Given the description of an element on the screen output the (x, y) to click on. 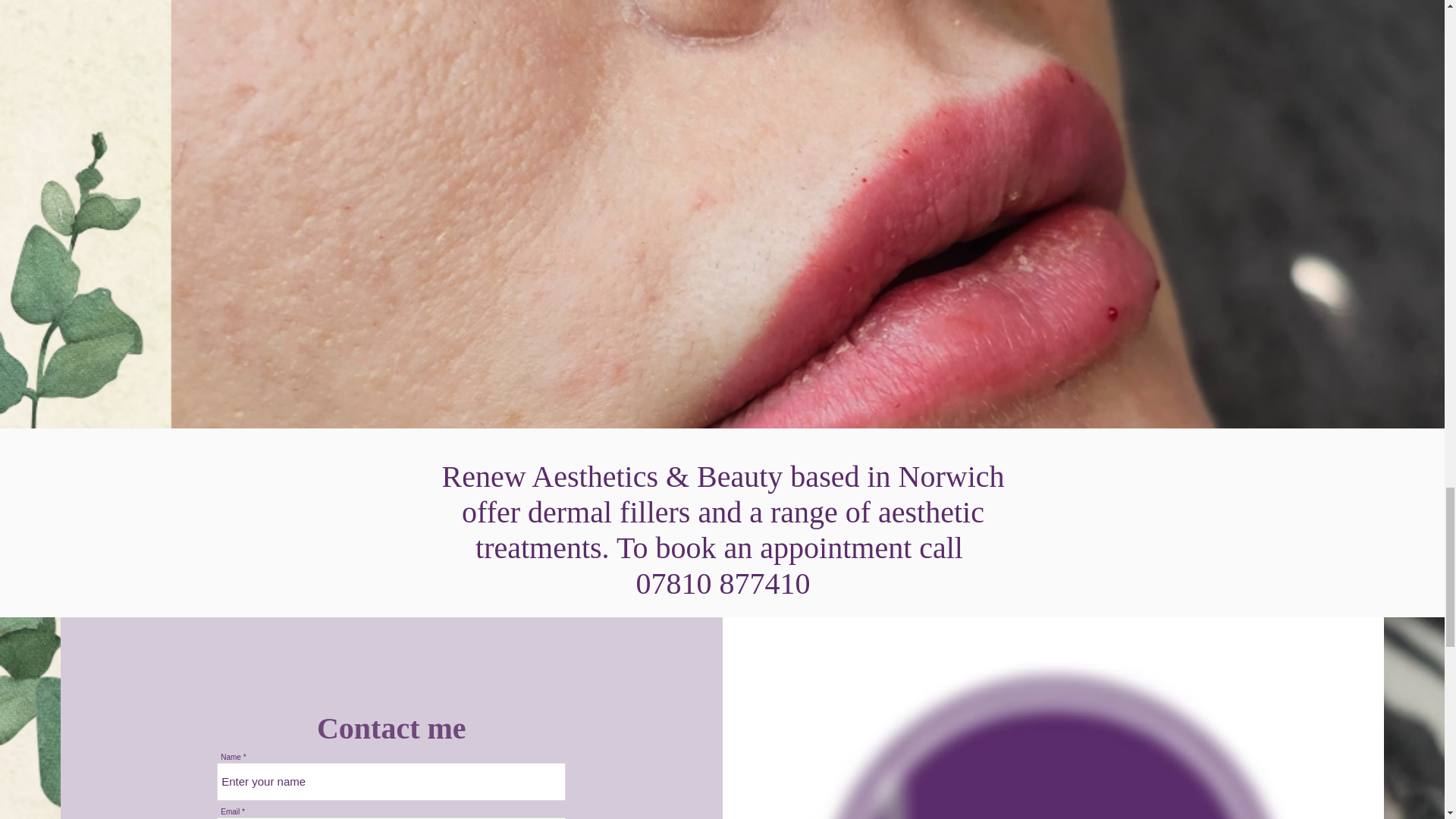
07810 877410 (721, 583)
